Given the description of an element on the screen output the (x, y) to click on. 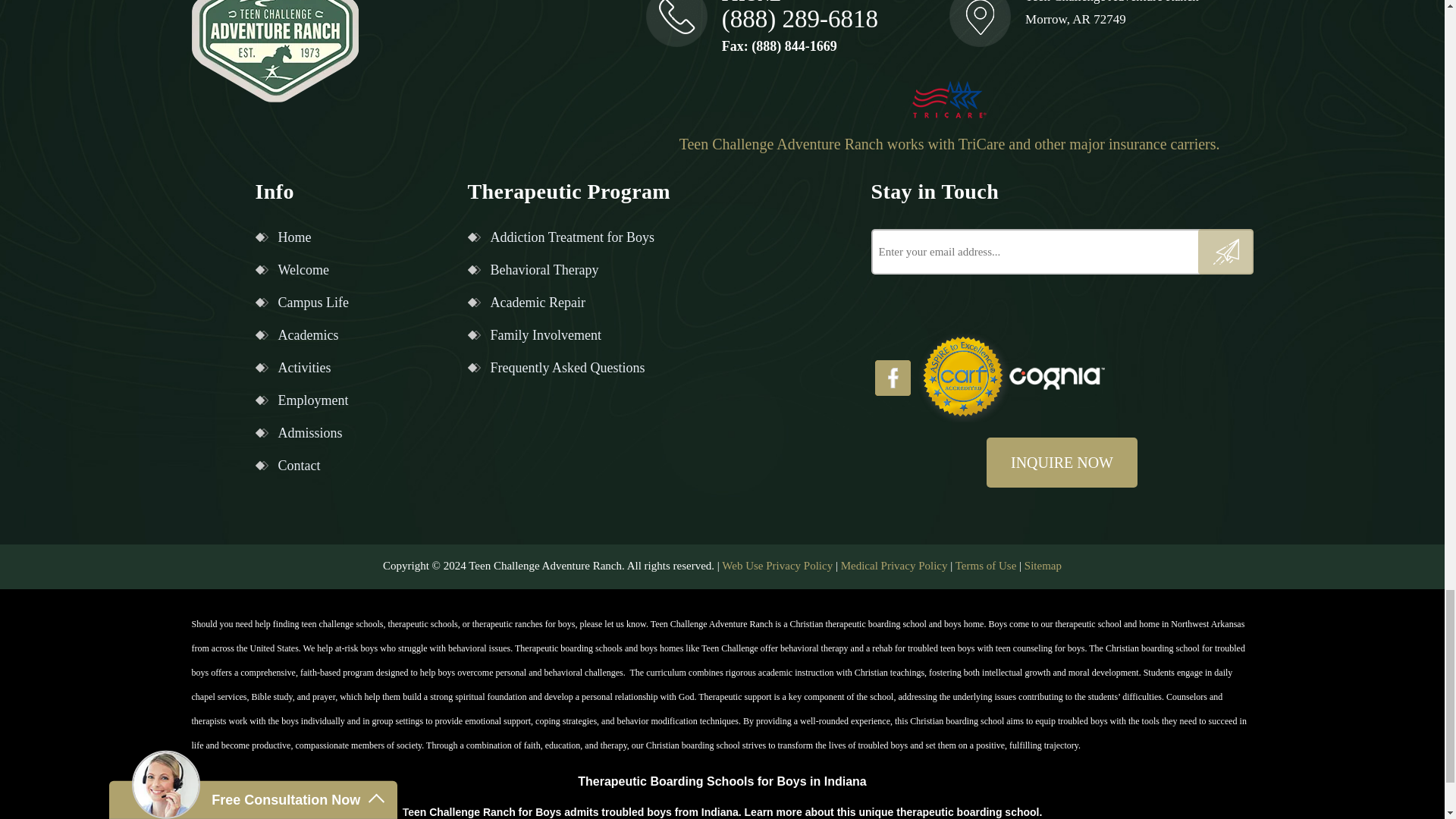
Submit (1225, 251)
